Given the description of an element on the screen output the (x, y) to click on. 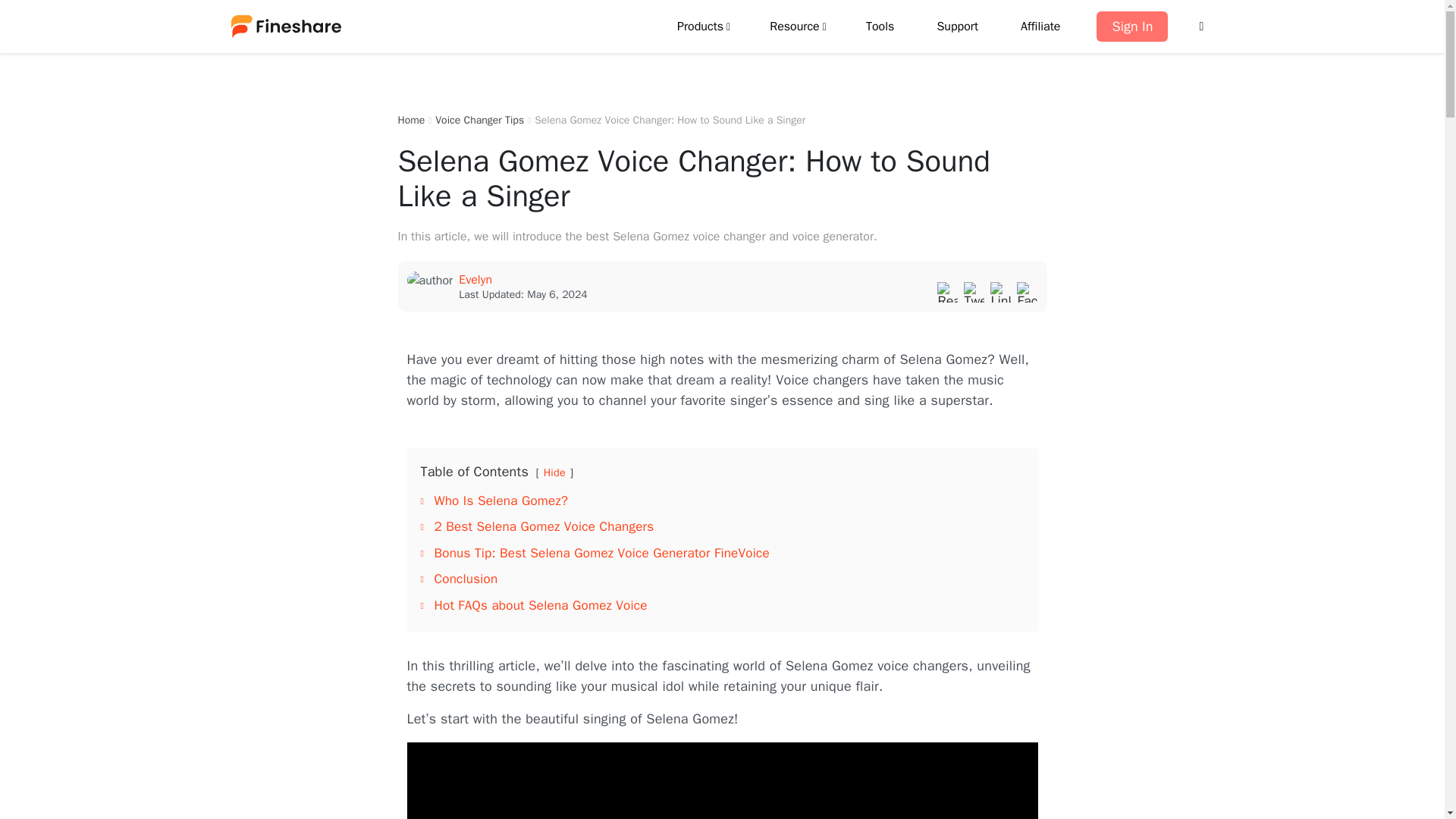
YouTube video player (721, 780)
Sign In (1131, 26)
Products (701, 26)
Resource (797, 26)
Tools (879, 26)
Support (957, 26)
Affiliate (1039, 26)
